Given the description of an element on the screen output the (x, y) to click on. 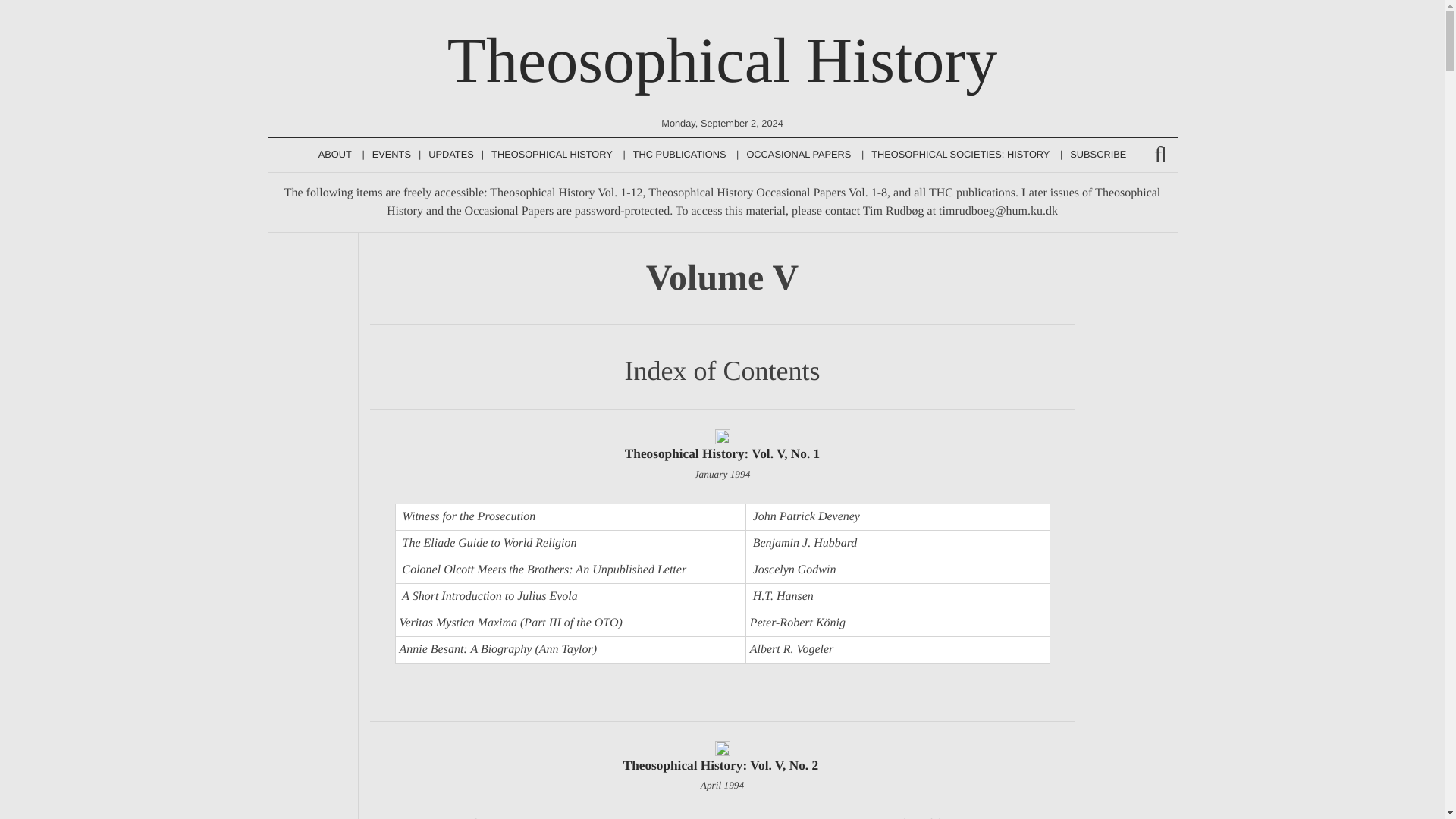
Theosophical History (721, 60)
UPDATES (450, 154)
ABOUT (335, 154)
EVENTS (392, 154)
THEOSOPHICAL HISTORY (551, 154)
